Given the description of an element on the screen output the (x, y) to click on. 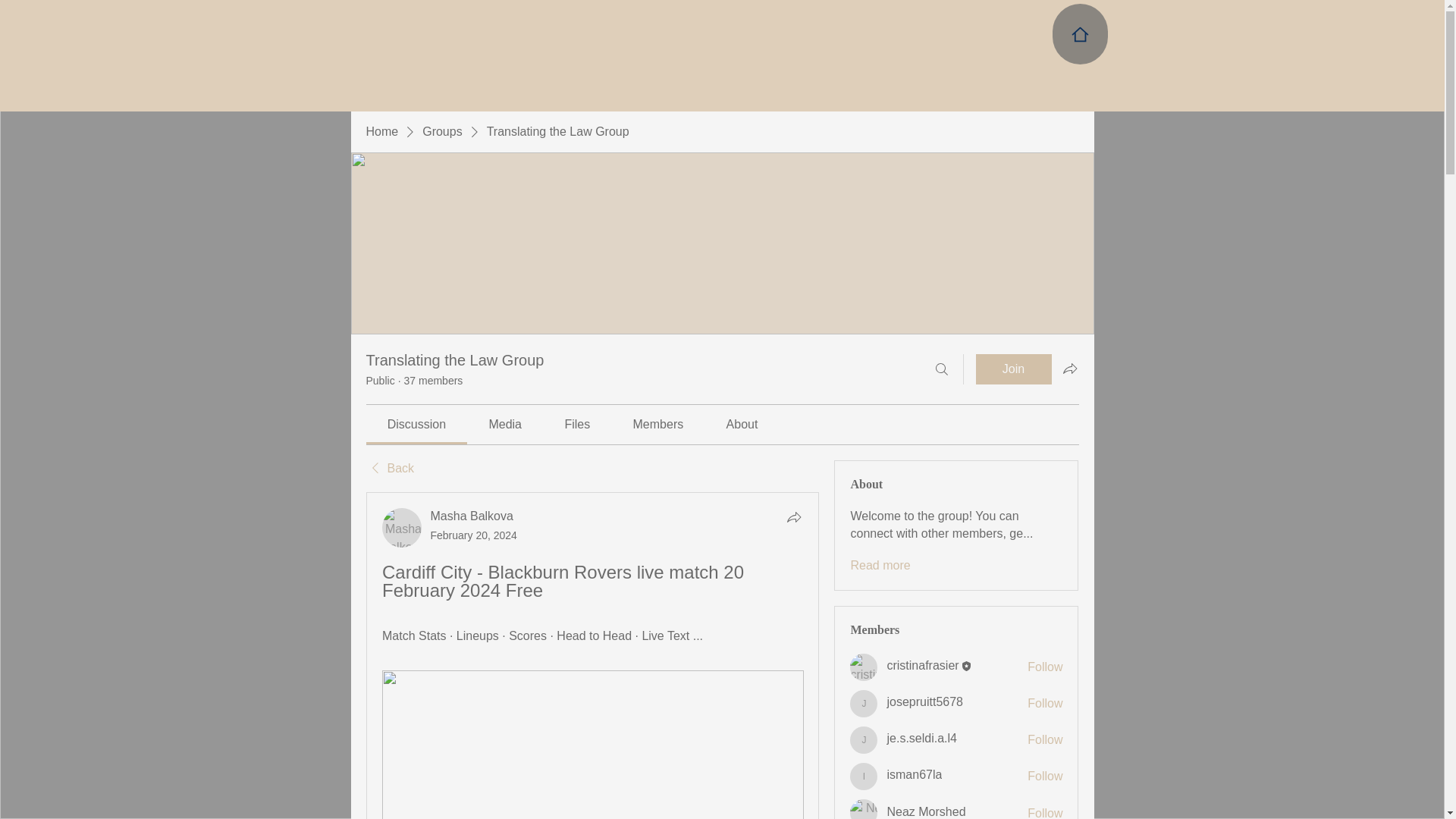
Follow (1044, 812)
Home (381, 131)
isman67la (914, 774)
Neaz Morshed (863, 809)
josepruitt5678 (924, 701)
Follow (1044, 667)
cristinafrasier (922, 665)
je.s.seldi.a.l4 (921, 738)
je.s.seldi.a.l4 (863, 739)
February 20, 2024 (473, 535)
Follow (1044, 776)
Masha Balkova (401, 527)
isman67la (863, 776)
Read more (880, 565)
Masha Balkova (471, 515)
